Given the description of an element on the screen output the (x, y) to click on. 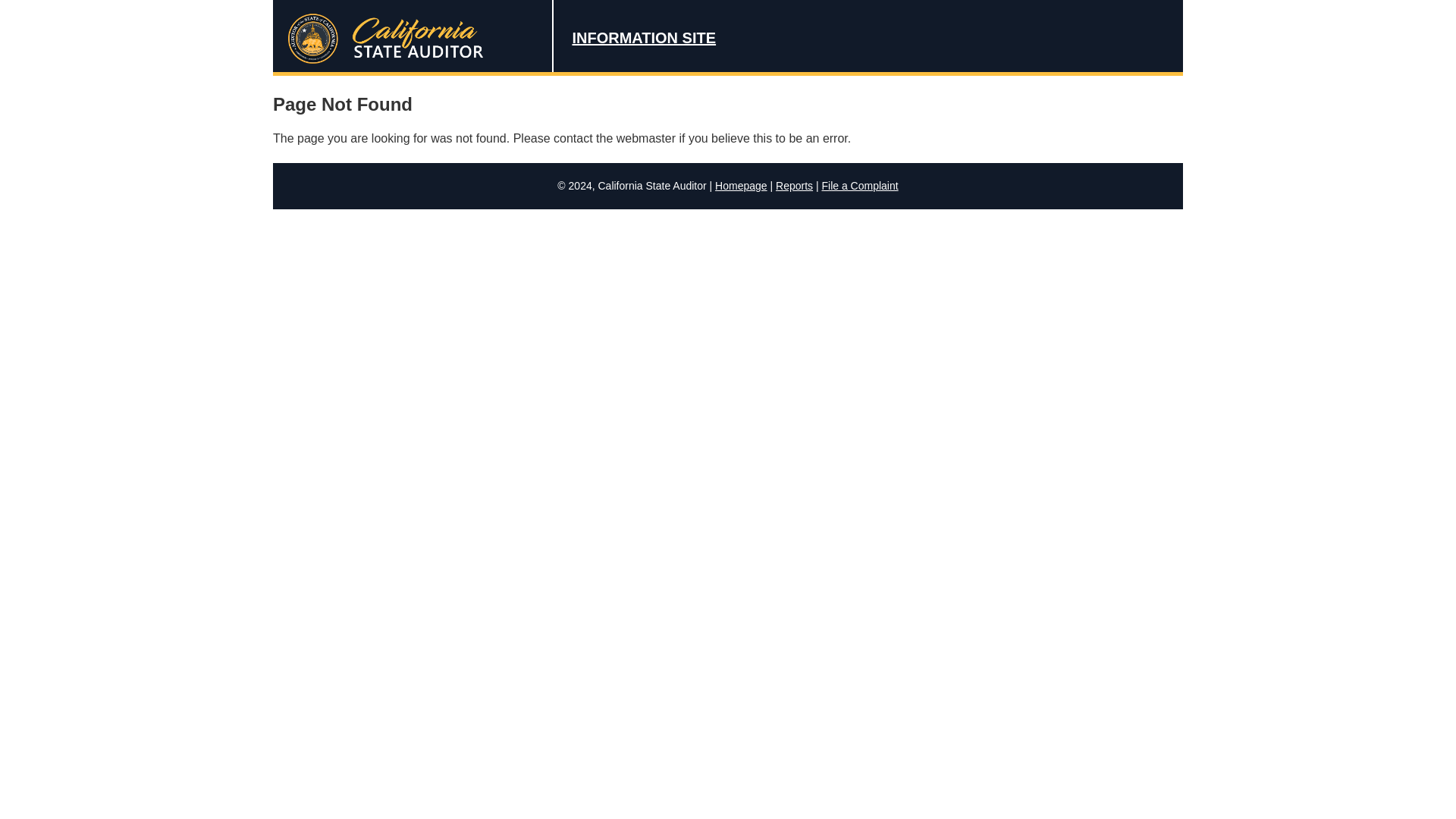
Reports (794, 185)
California State Auditor Banner (727, 38)
Homepage (740, 185)
File a Complaint (859, 185)
INFORMATION SITE (644, 37)
